Given the description of an element on the screen output the (x, y) to click on. 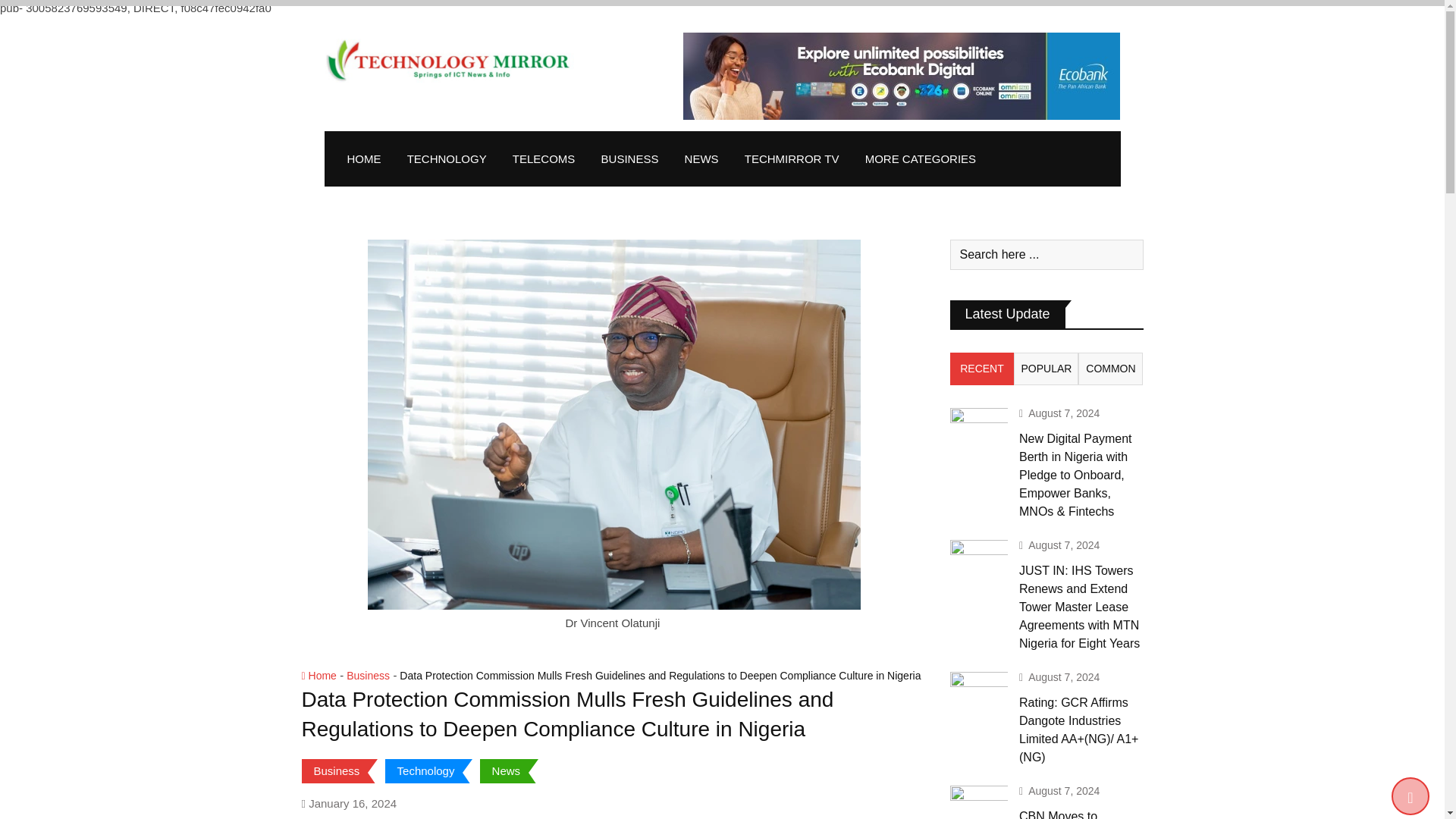
TELECOMS (543, 157)
NEWS (701, 157)
BUSINESS (629, 157)
TECHNOLOGY (446, 157)
HOME (362, 157)
MORE CATEGORIES (920, 157)
TECHMIRROR TV (791, 157)
